Given the description of an element on the screen output the (x, y) to click on. 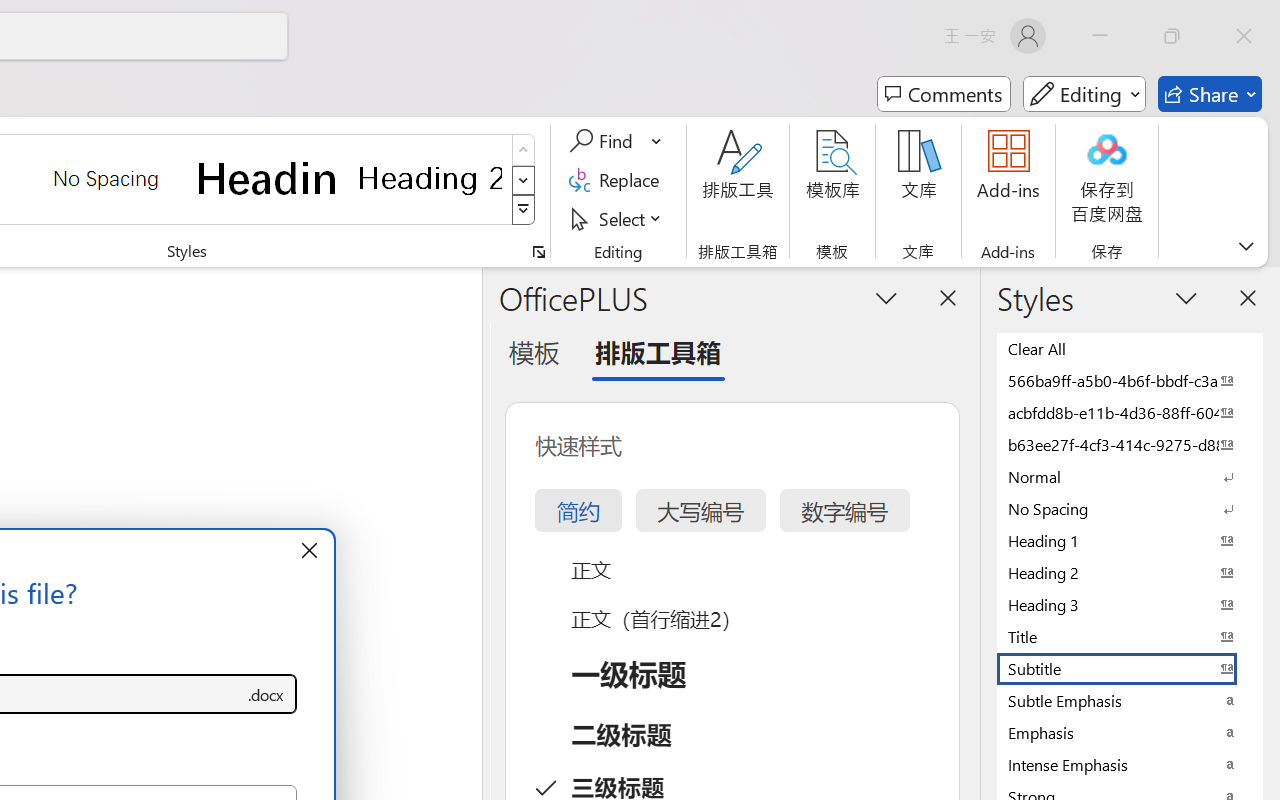
No Spacing (1130, 508)
Find (616, 141)
Title (1130, 636)
Ribbon Display Options (1246, 245)
